Given the description of an element on the screen output the (x, y) to click on. 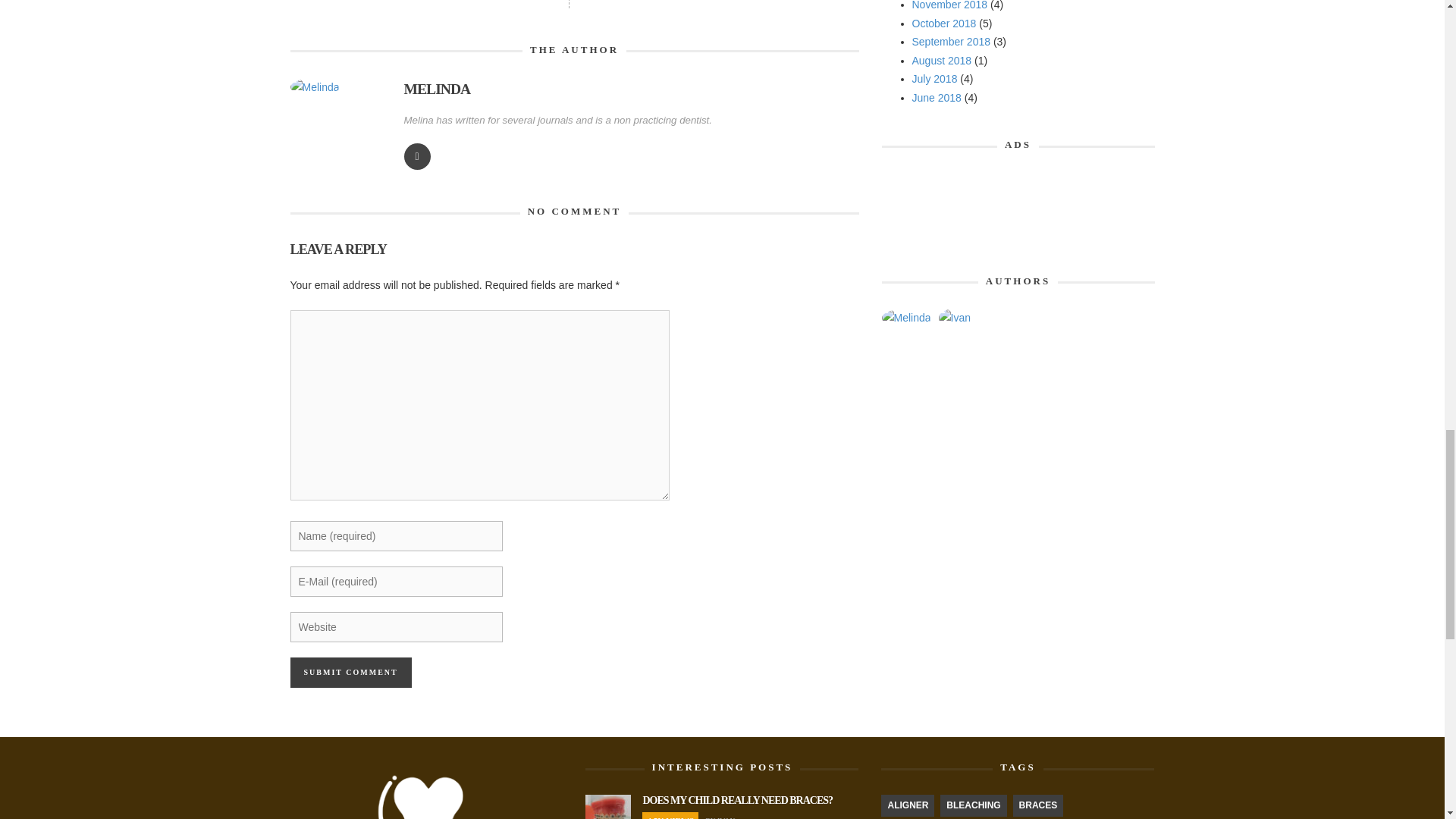
Submit comment (349, 672)
